Given the description of an element on the screen output the (x, y) to click on. 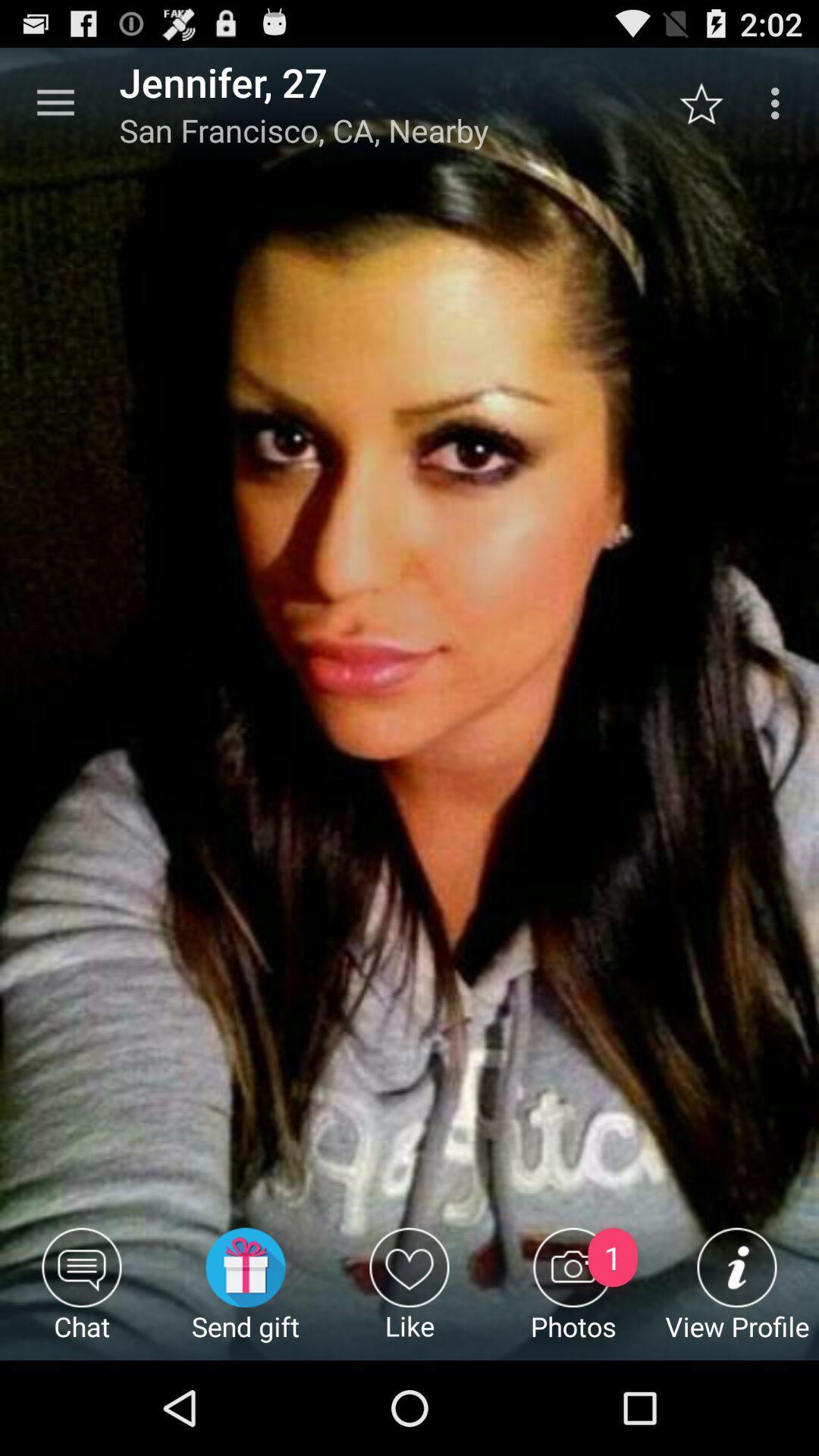
tap the icon next to the send gift (81, 1293)
